Given the description of an element on the screen output the (x, y) to click on. 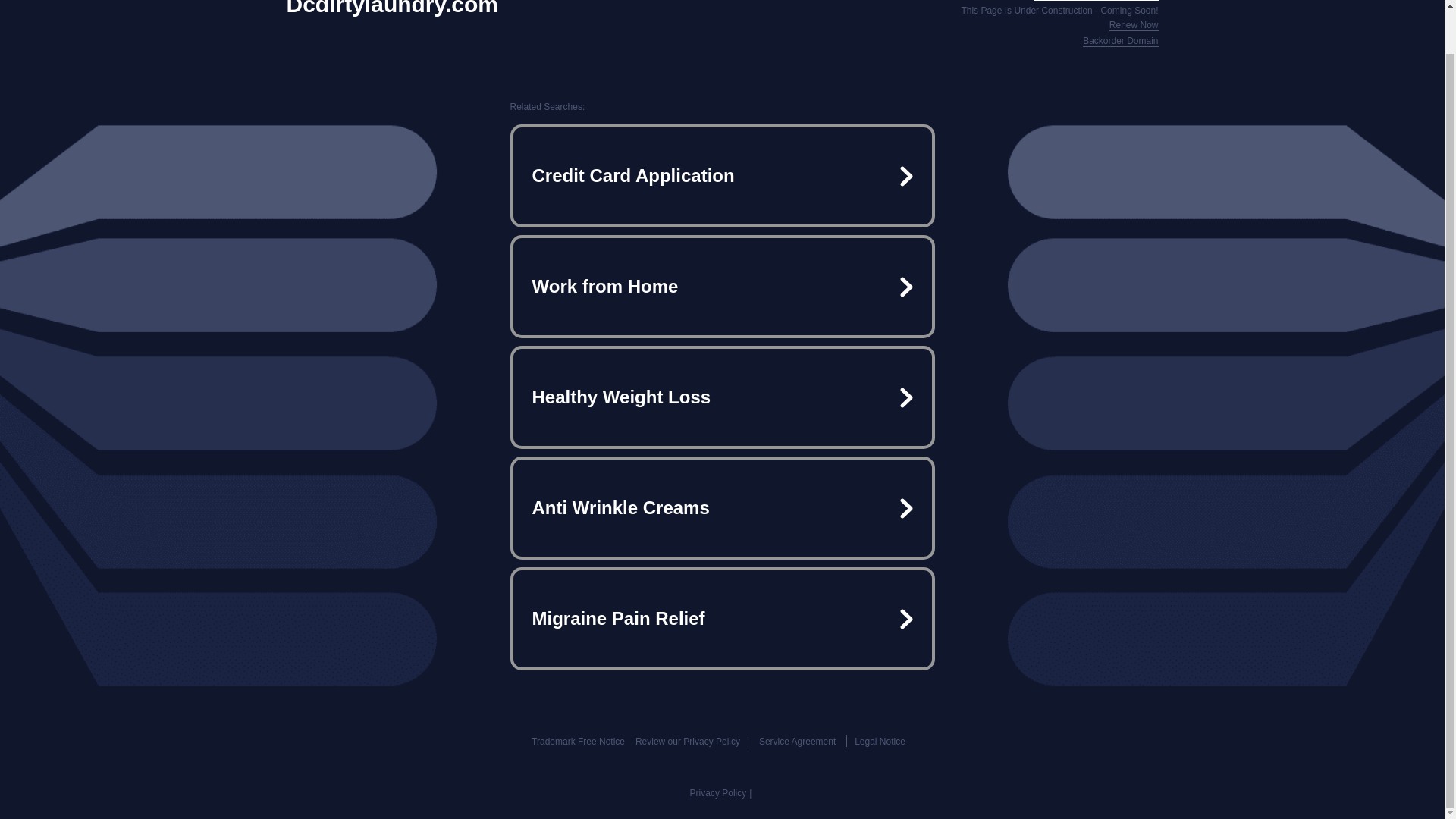
Backorder Domain (1120, 41)
Credit Card Application (721, 175)
Work from Home (721, 286)
Renew Now (1133, 25)
Privacy Policy (718, 792)
Service Agreement (796, 741)
Dcdirtylaundry.com (392, 8)
Migraine Pain Relief (721, 618)
Work from Home (721, 286)
Healthy Weight Loss (721, 396)
Trademark Free Notice (577, 741)
Anti Wrinkle Creams (721, 507)
Migraine Pain Relief (721, 618)
Legal Notice (879, 741)
Review our Privacy Policy (686, 741)
